Given the description of an element on the screen output the (x, y) to click on. 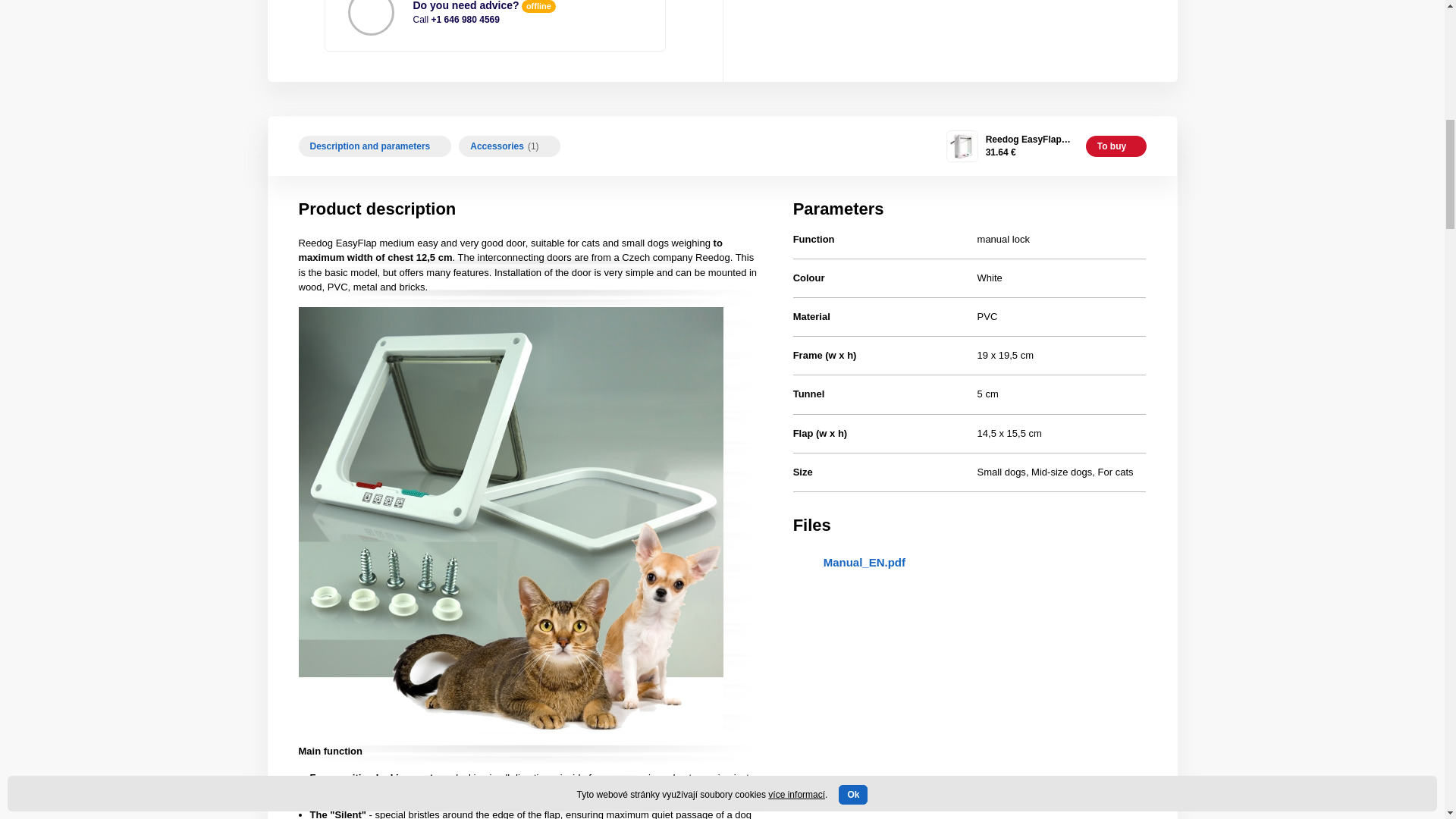
For mid-size dogs (1061, 471)
For small dogs (1001, 471)
